Given the description of an element on the screen output the (x, y) to click on. 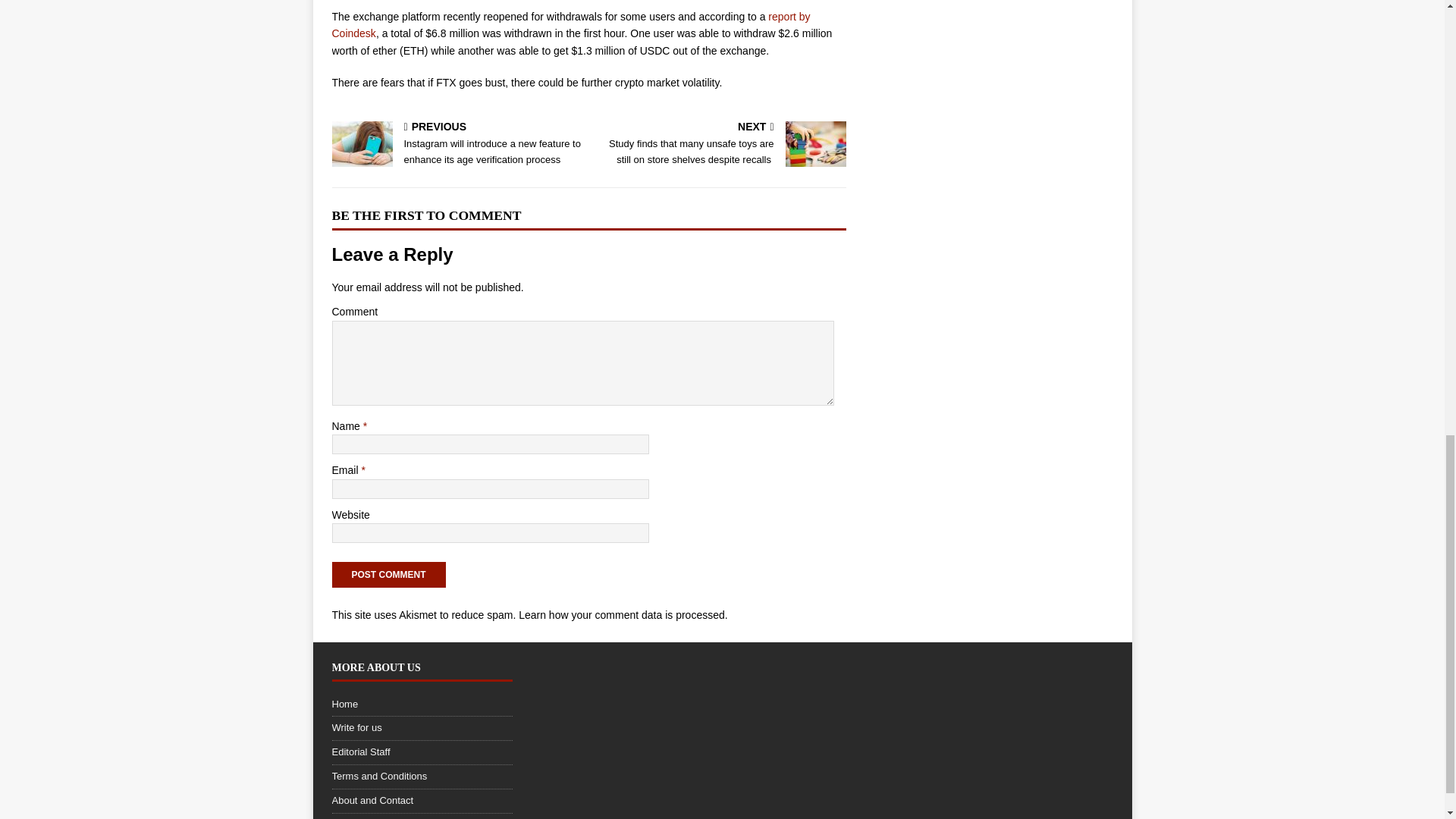
Post Comment (388, 574)
Post Comment (388, 574)
Learn how your comment data is processed (621, 614)
report by Coindesk (570, 24)
